Given the description of an element on the screen output the (x, y) to click on. 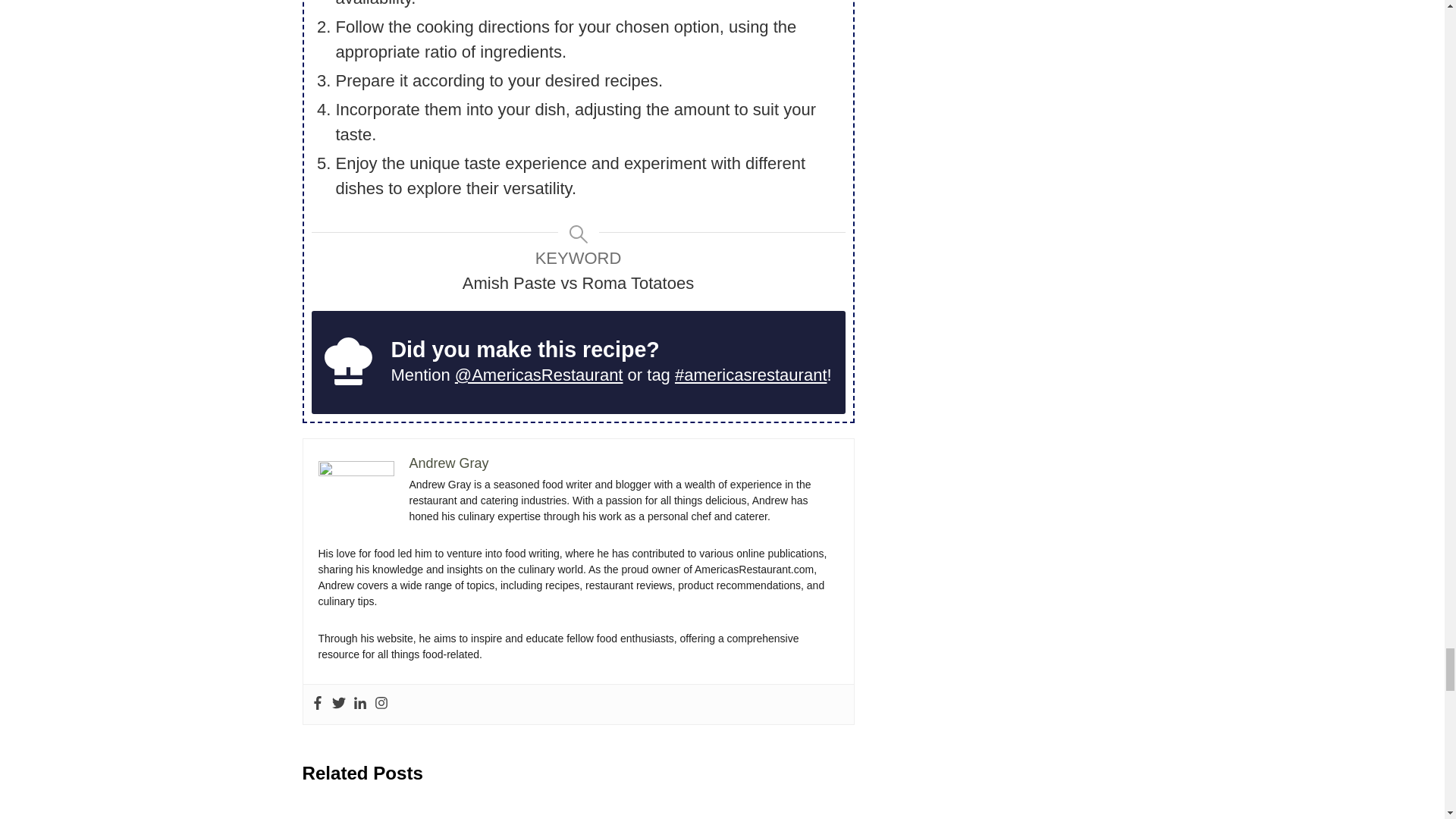
Andrew Gray (449, 462)
Dried Plums vs Prunes: Which is a Better Option? (393, 817)
